Given the description of an element on the screen output the (x, y) to click on. 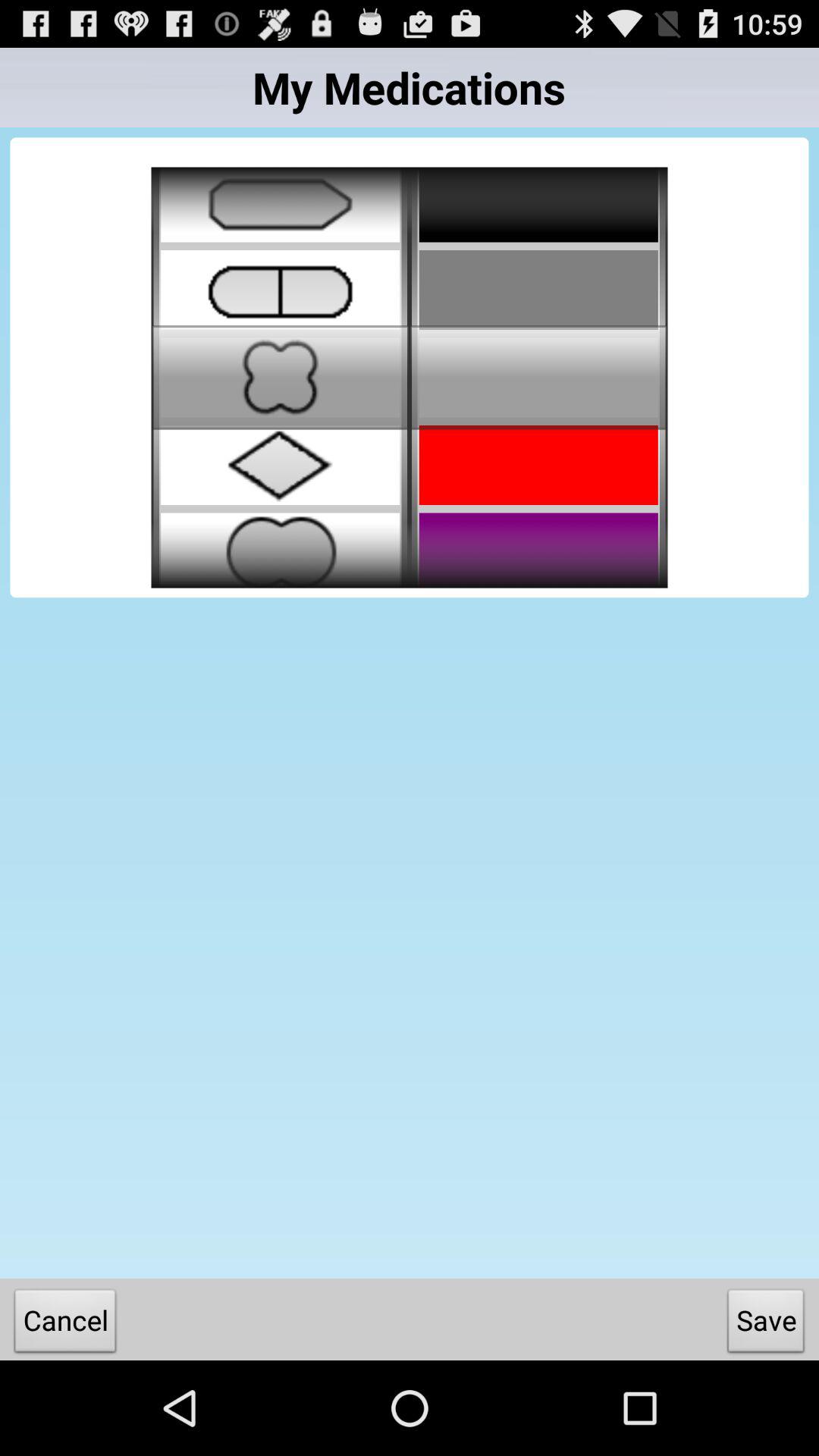
swipe to cancel icon (65, 1324)
